Given the description of an element on the screen output the (x, y) to click on. 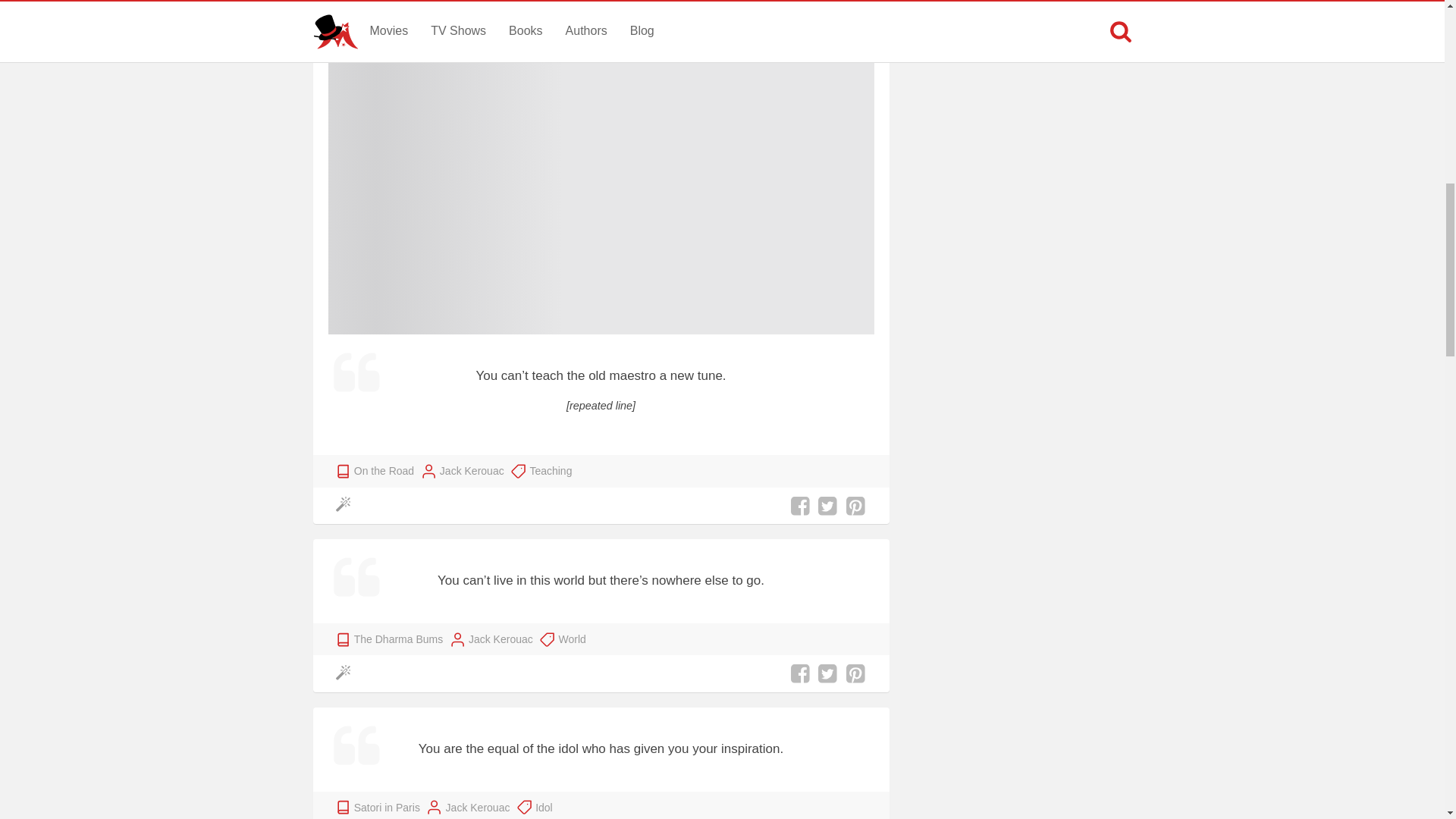
Jack Kerouac (471, 470)
Teaching (550, 470)
On the Road (383, 470)
Jack Kerouac (500, 638)
Do Some Magic! (345, 505)
The Dharma Bums (397, 638)
Do Some Magic! (345, 673)
World (571, 638)
